Given the description of an element on the screen output the (x, y) to click on. 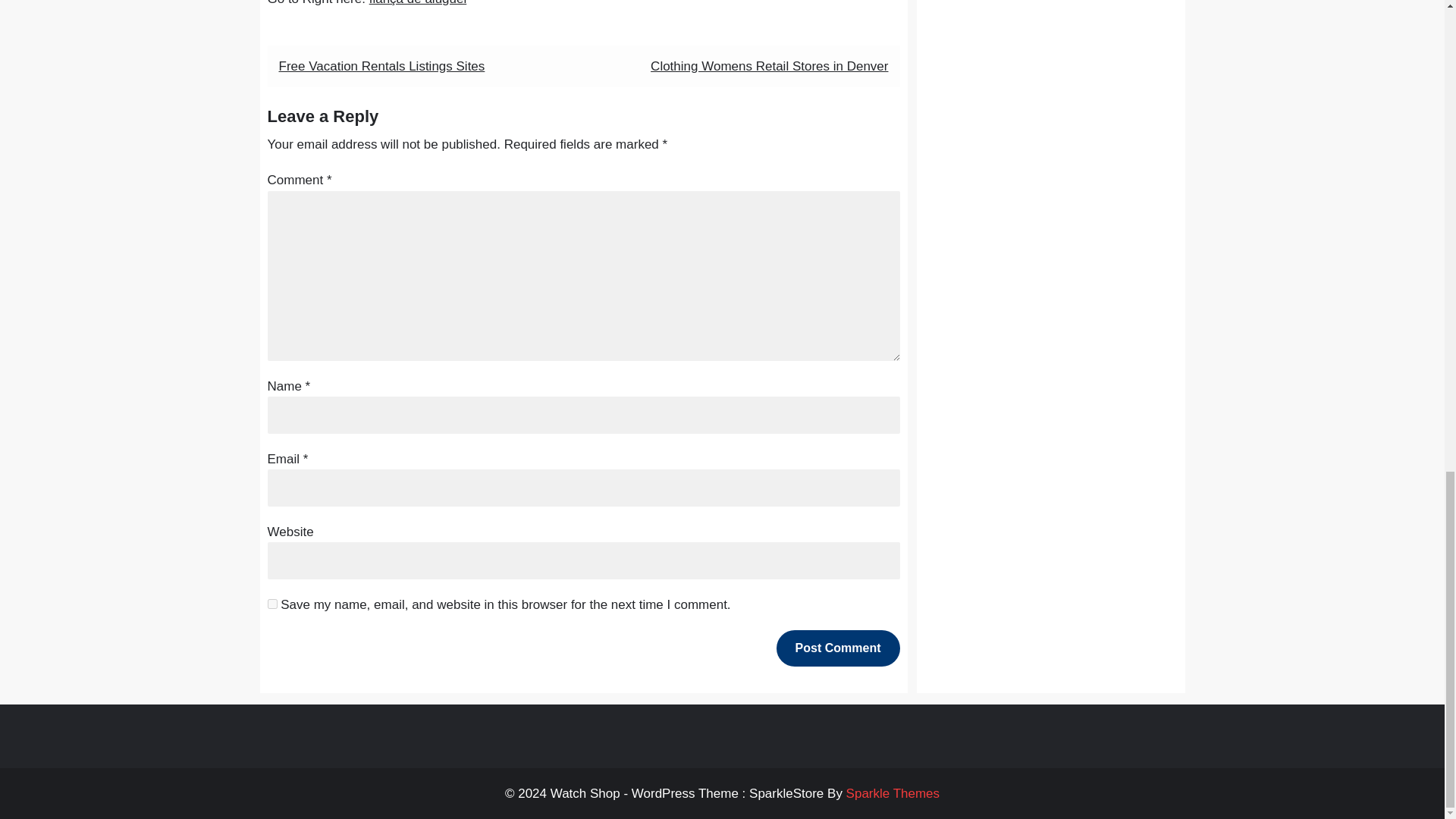
Sparkle Themes (892, 793)
Free Vacation Rentals Listings Sites (381, 65)
Post Comment (837, 647)
Clothing Womens Retail Stores in Denver (769, 65)
yes (271, 603)
Post Comment (837, 647)
